Given the description of an element on the screen output the (x, y) to click on. 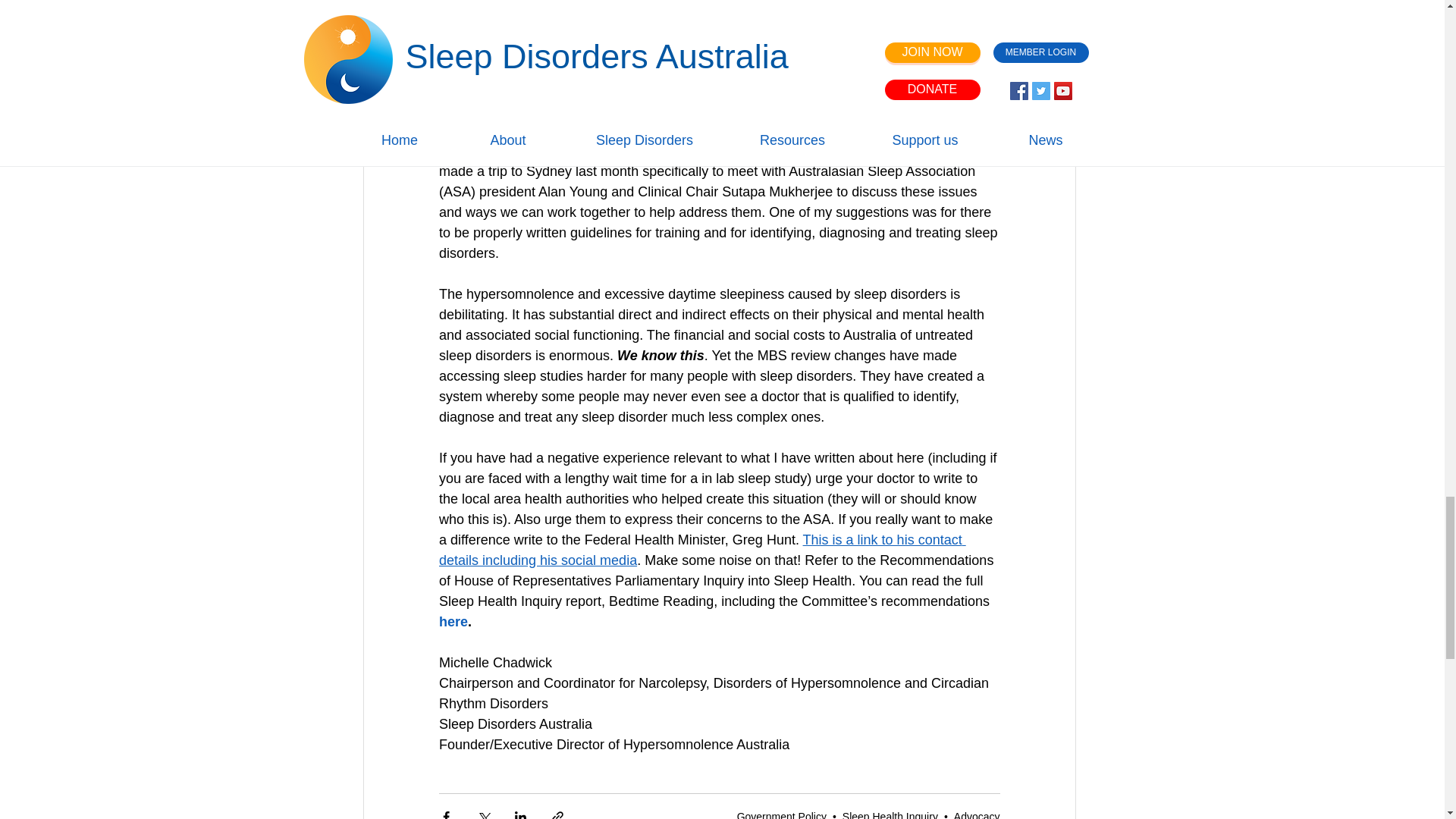
here (452, 621)
Government Policy (781, 814)
Advocacy (976, 814)
Sleep Health Inquiry (890, 814)
